Given the description of an element on the screen output the (x, y) to click on. 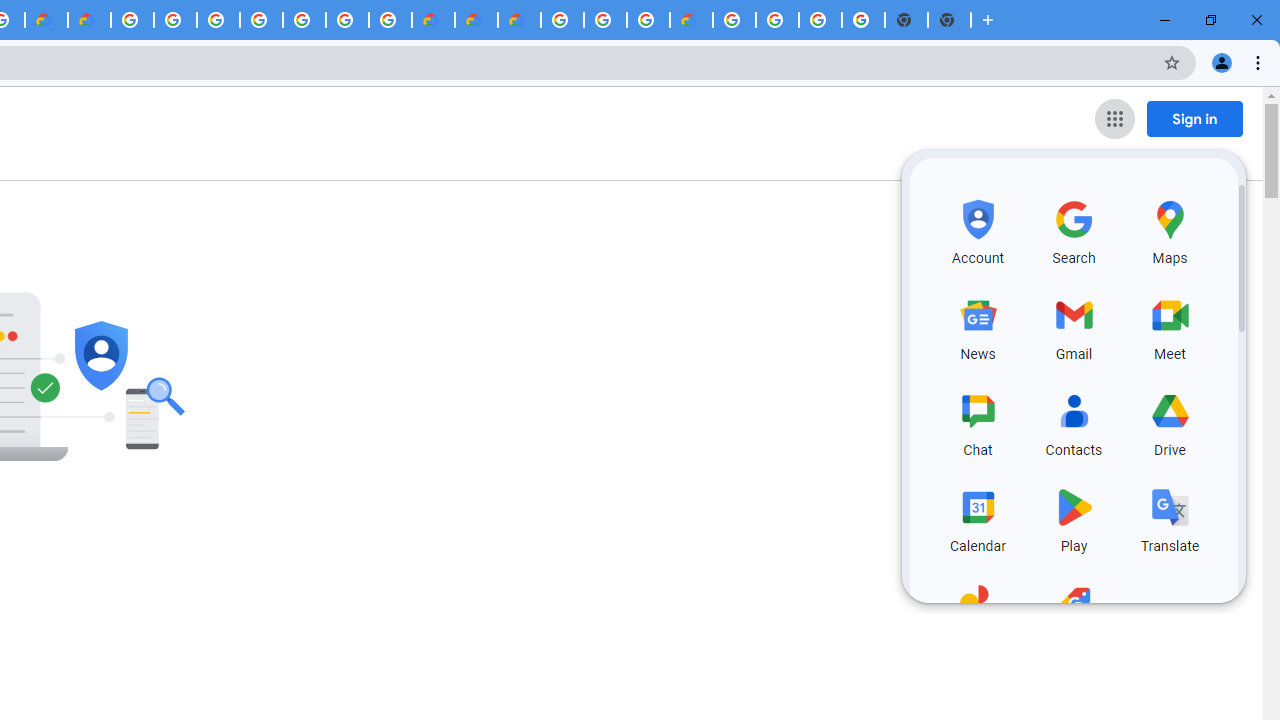
Google Cloud Platform (734, 20)
Google Cloud Platform (347, 20)
Browse Chrome as a guest - Computer - Google Chrome Help (648, 20)
Restore (1210, 20)
Google Cloud Estimate Summary (519, 20)
Sign in - Google Accounts (218, 20)
Browse Chrome as a guest - Computer - Google Chrome Help (605, 20)
New Tab (988, 20)
Close (1256, 20)
Google Cloud Service Health (690, 20)
